Given the description of an element on the screen output the (x, y) to click on. 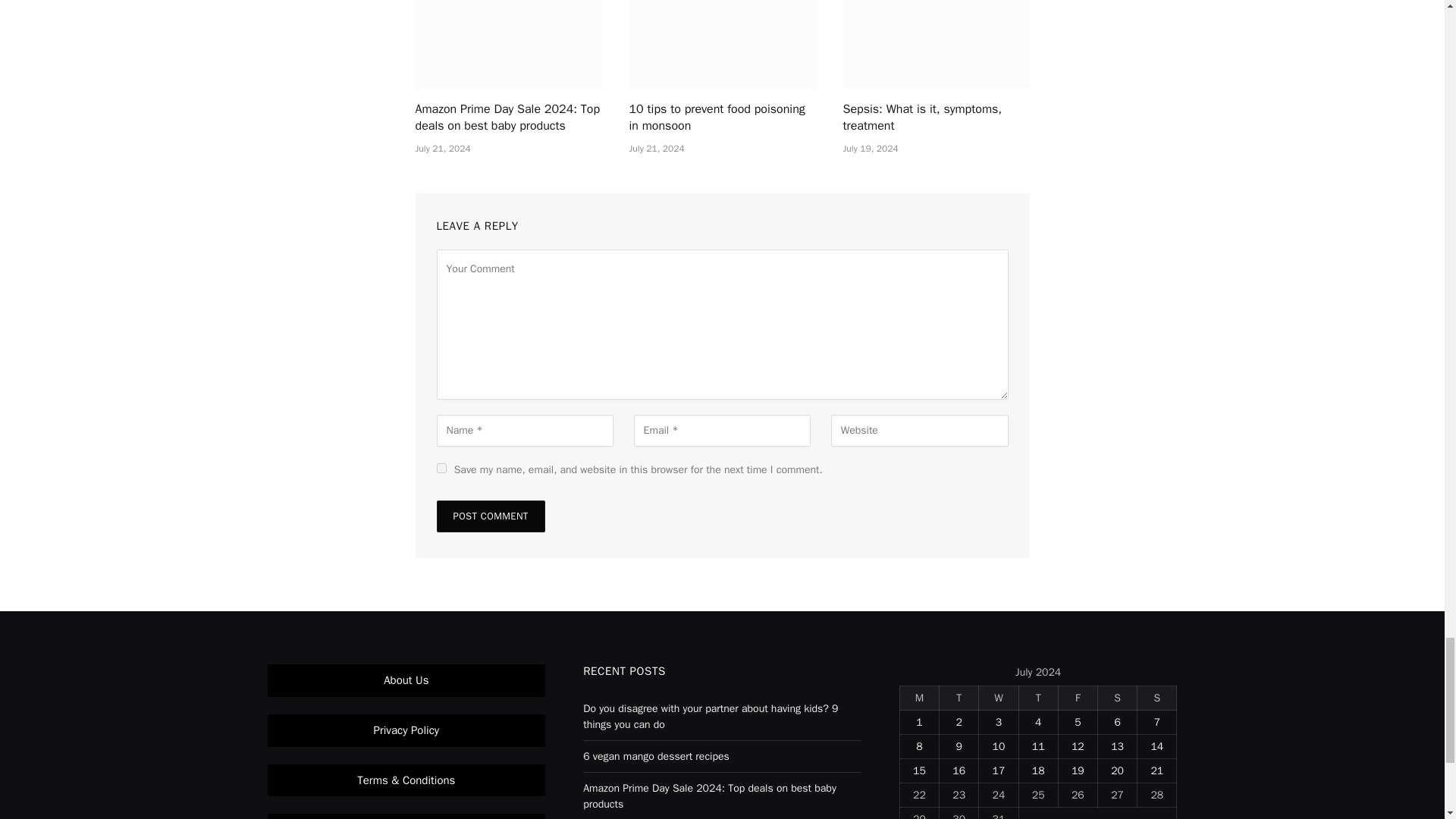
Privacy Policy (406, 730)
Post Comment (490, 516)
10 tips to prevent food poisoning in monsoon (721, 118)
Amazon Prime Day Sale 2024: Top deals on best baby products (508, 44)
Post Comment (490, 516)
About Us (406, 680)
Sepsis: What is it, symptoms, treatment (936, 118)
yes (441, 468)
Amazon Prime Day Sale 2024: Top deals on best baby products (508, 118)
